Given the description of an element on the screen output the (x, y) to click on. 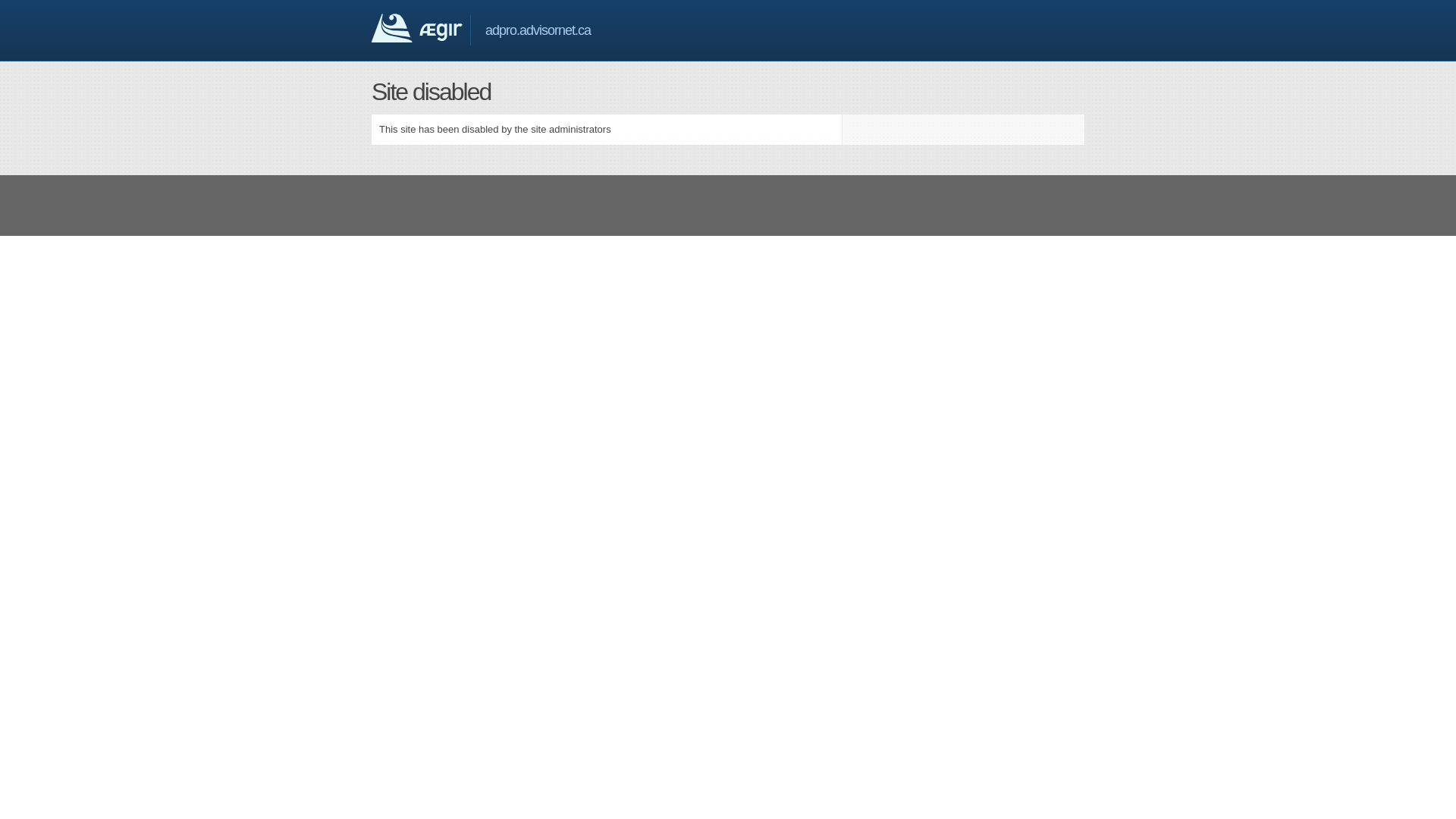
Skip to main content Element type: text (44, 0)
